Given the description of an element on the screen output the (x, y) to click on. 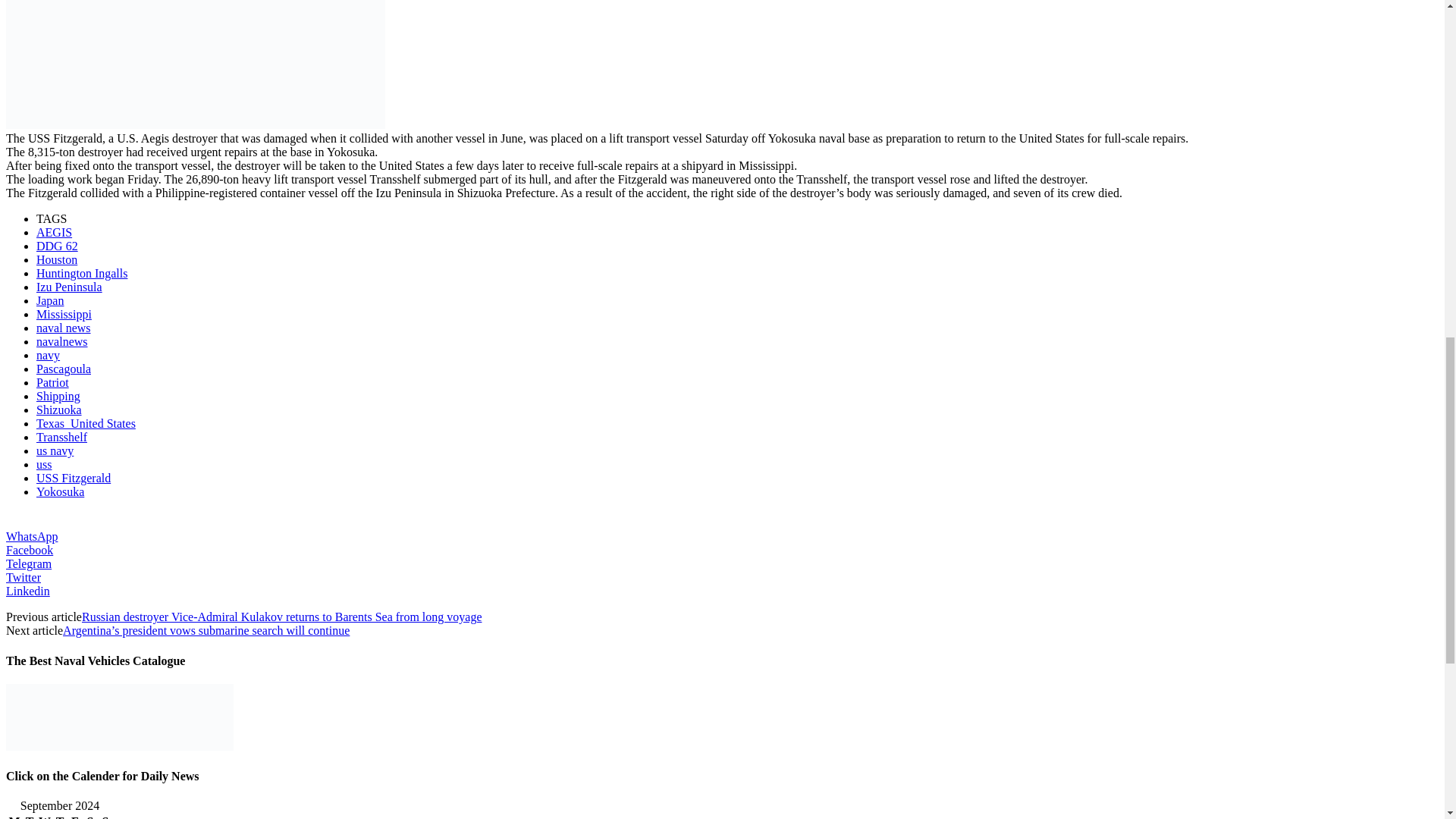
Houston (56, 259)
AEGIS (53, 232)
Huntington Ingalls (82, 273)
DDG 62 (57, 245)
